Given the description of an element on the screen output the (x, y) to click on. 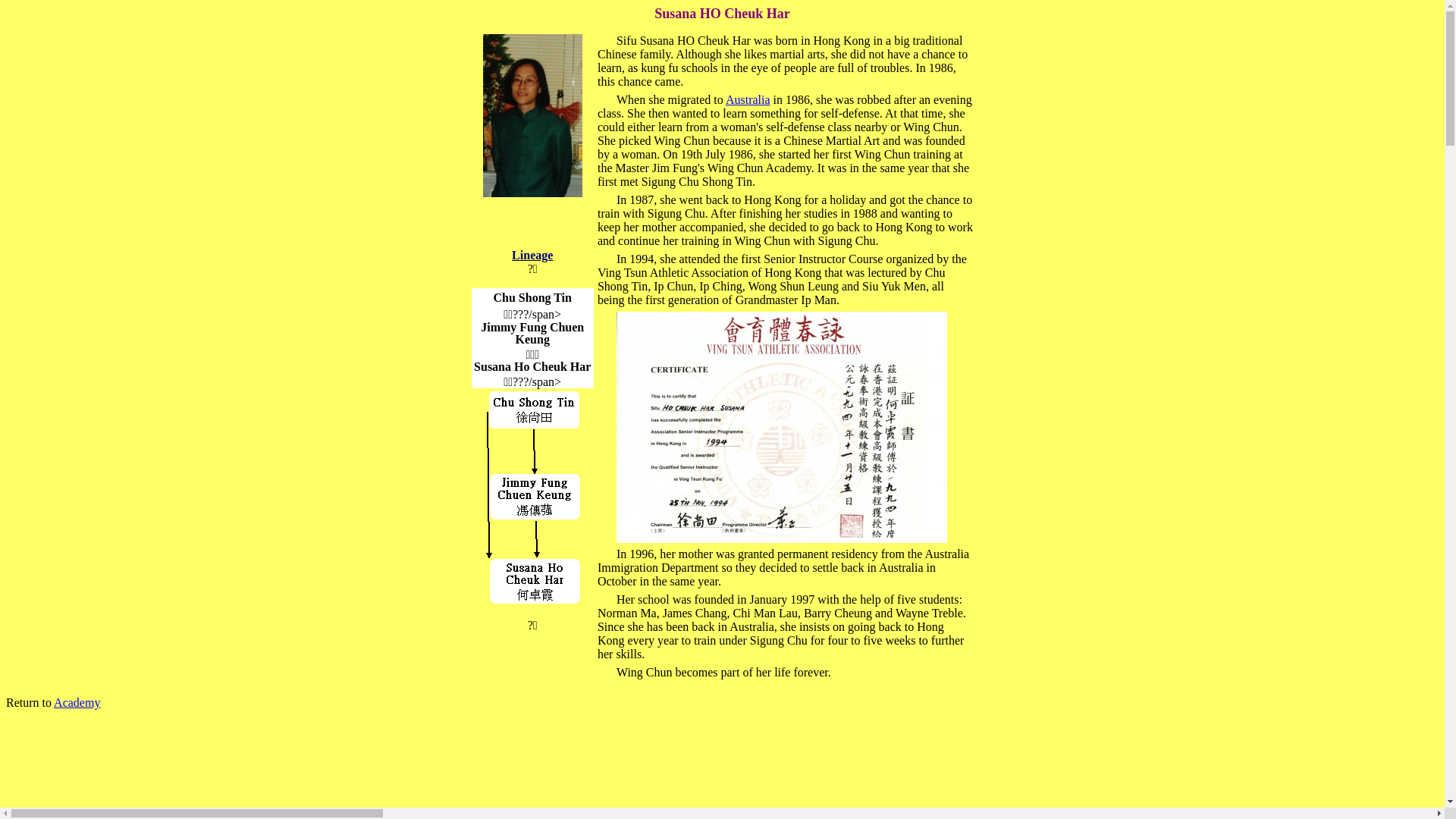
Academy Element type: text (76, 702)
Australia Element type: text (747, 99)
